Given the description of an element on the screen output the (x, y) to click on. 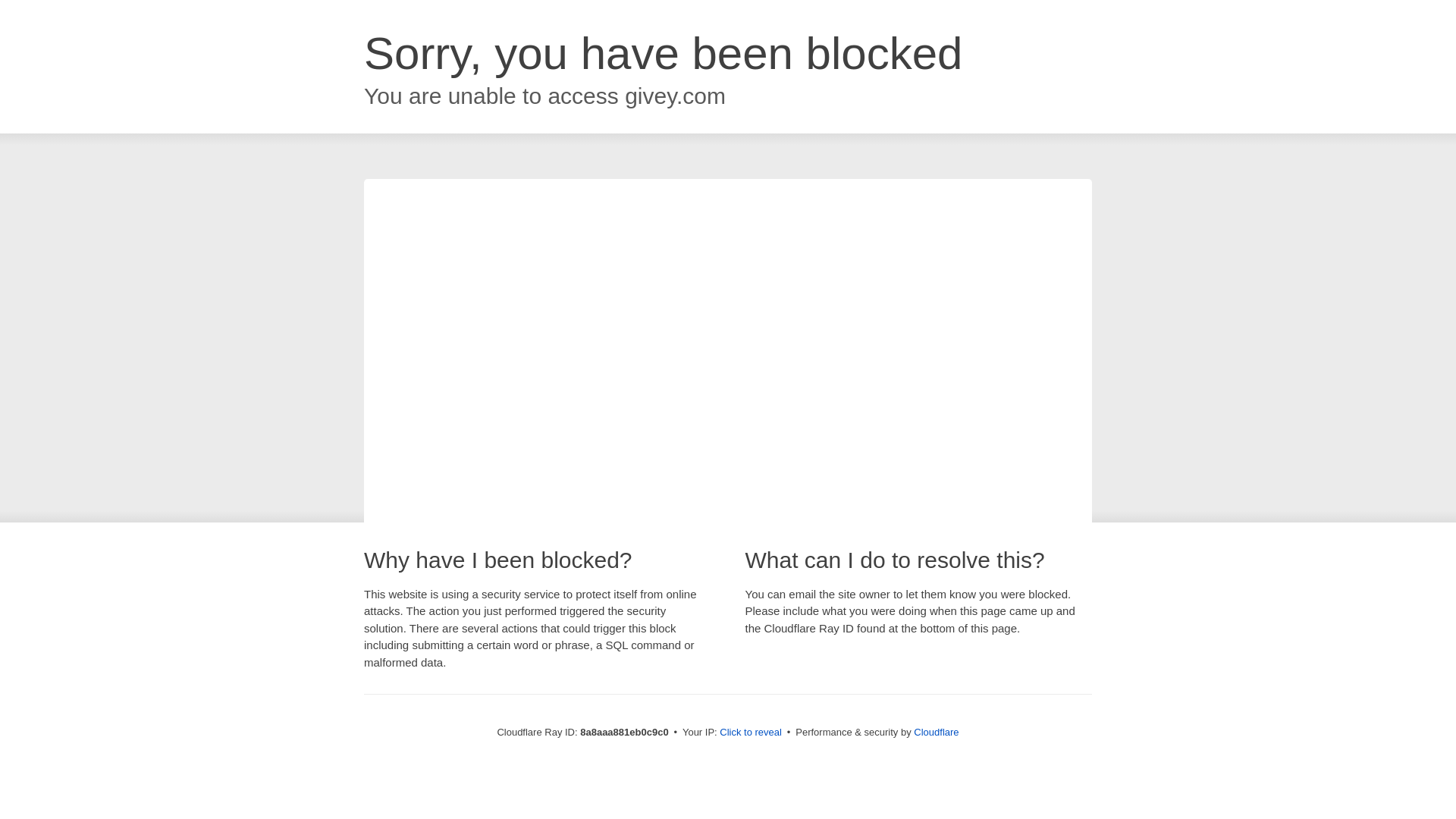
Click to reveal (750, 732)
Cloudflare (936, 731)
